Given the description of an element on the screen output the (x, y) to click on. 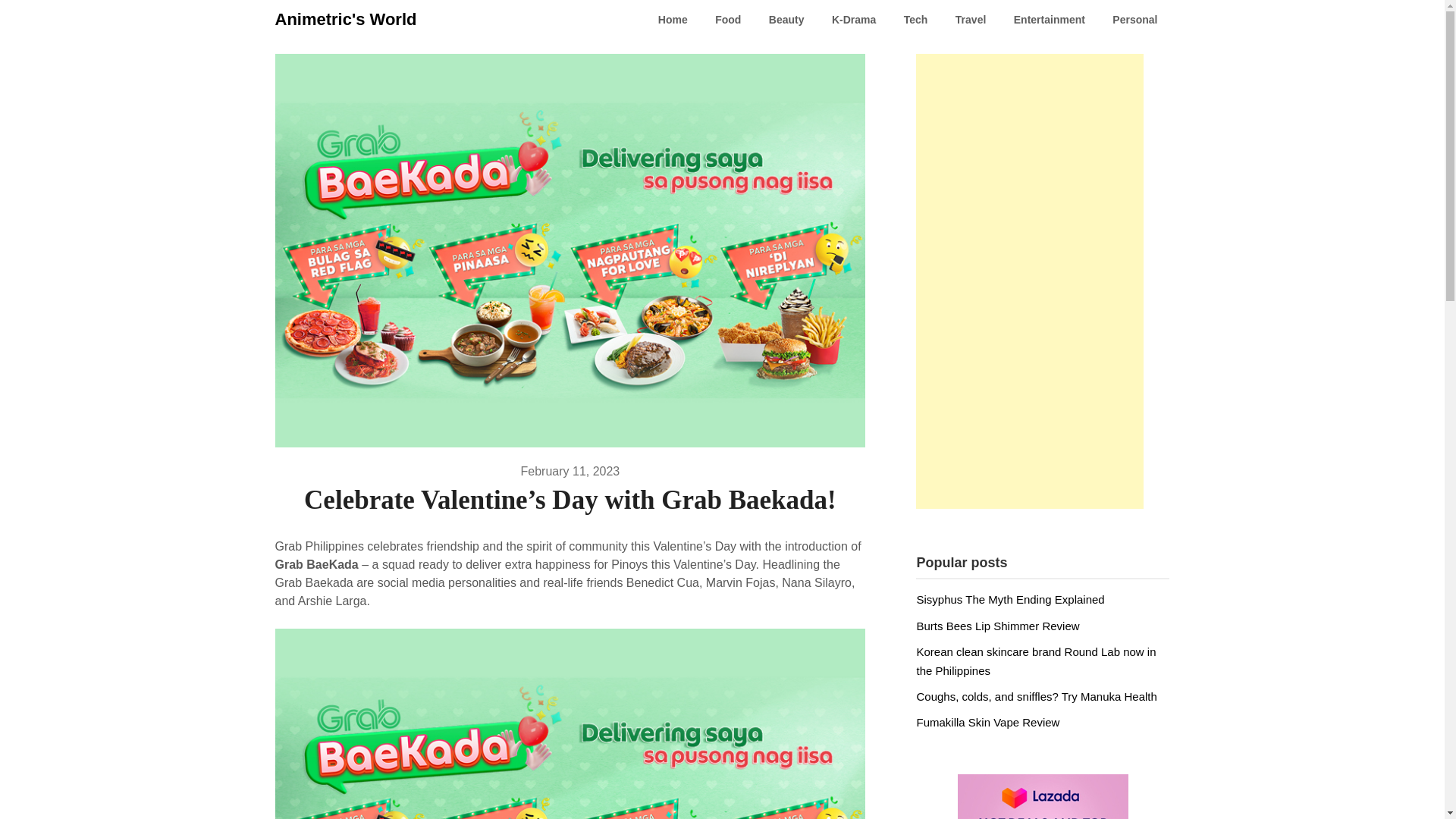
Burts Bees Lip Shimmer Review (996, 625)
Beauty (786, 20)
Fumakilla Skin Vape Review (987, 721)
Coughs, colds, and sniffles? Try Manuka Health (1035, 696)
Coughs, colds, and sniffles? Try Manuka Health (1035, 696)
Fumakilla Skin Vape Review (987, 721)
Home (673, 20)
Entertainment (1049, 20)
Tech (915, 20)
Burts Bees Lip Shimmer Review (996, 625)
Food (727, 20)
Travel (970, 20)
Korean clean skincare brand Round Lab now in the Philippines (1035, 660)
K-Drama (853, 20)
Korean clean skincare brand Round Lab now in the Philippines (1035, 660)
